Given the description of an element on the screen output the (x, y) to click on. 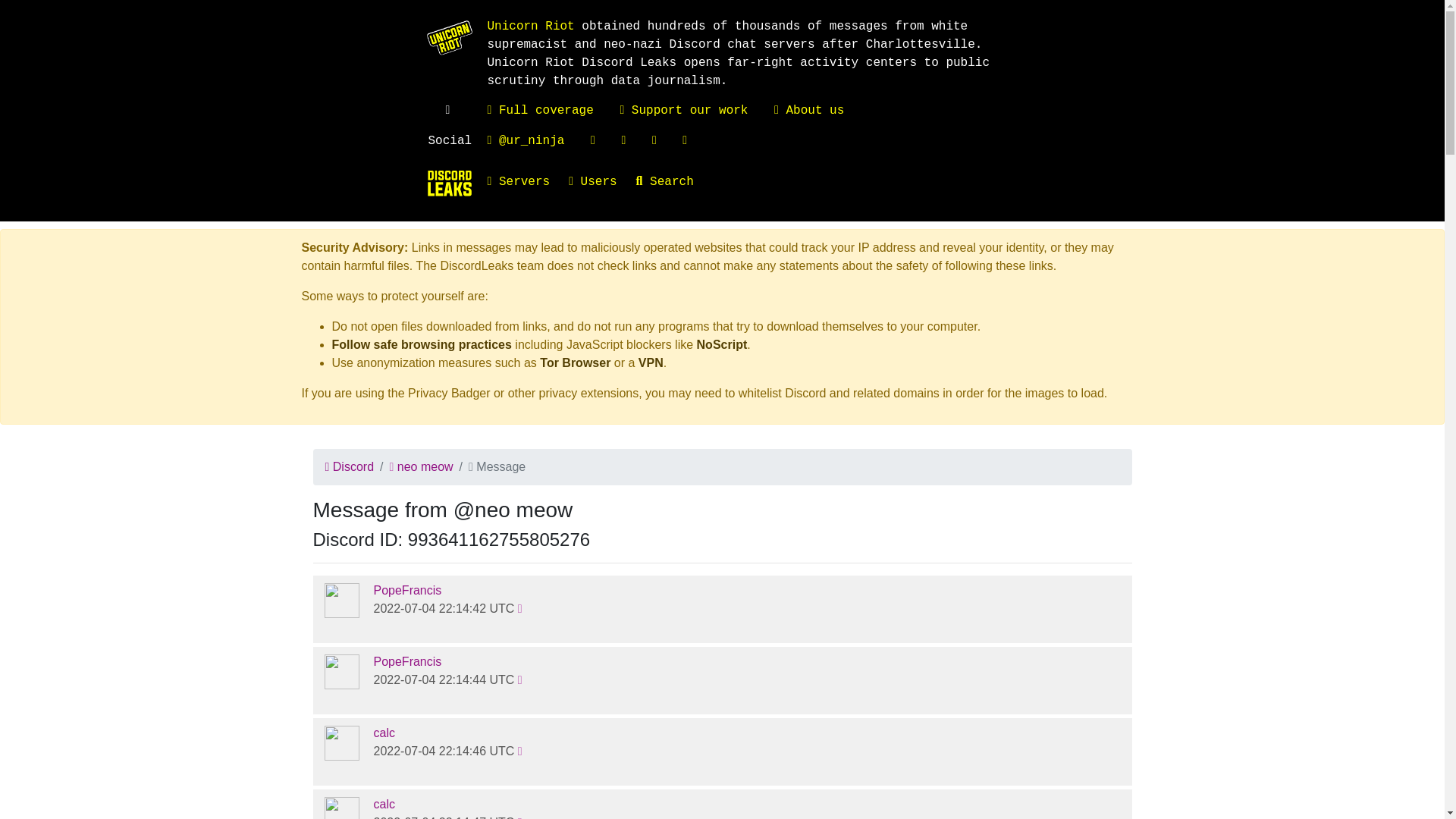
NoScript (722, 344)
Search this database (674, 181)
Full coverage (539, 110)
Unicorn Riot homepage (529, 26)
Users (601, 181)
Tor Browser (575, 362)
Discord ID: 278408397672415232 (341, 671)
Discord (349, 466)
Discord ID: 278408397672415232 (406, 590)
calc (383, 732)
